Given the description of an element on the screen output the (x, y) to click on. 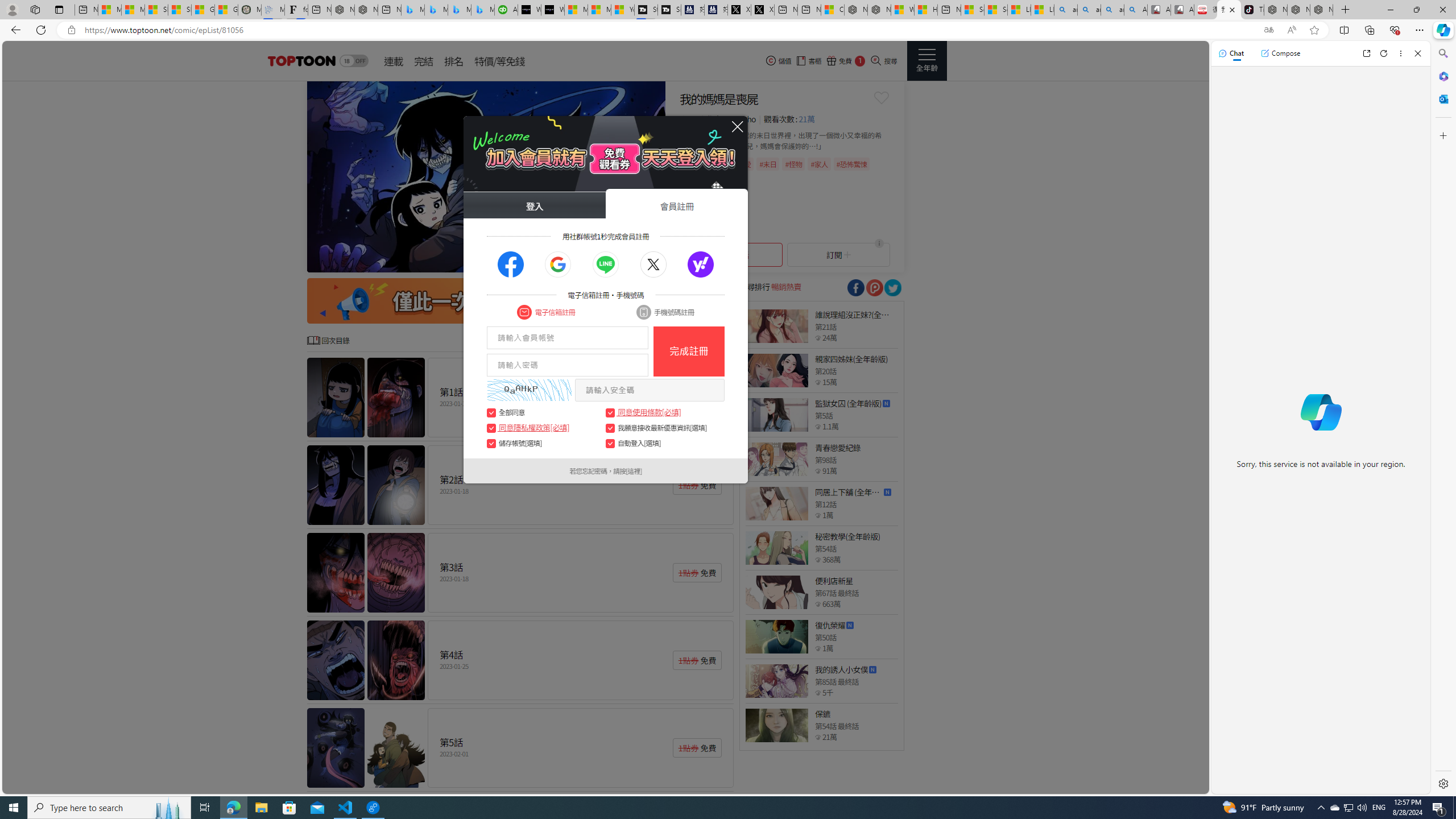
Go to slide 10 (652, 261)
Go to slide 6 (615, 261)
